Given the description of an element on the screen output the (x, y) to click on. 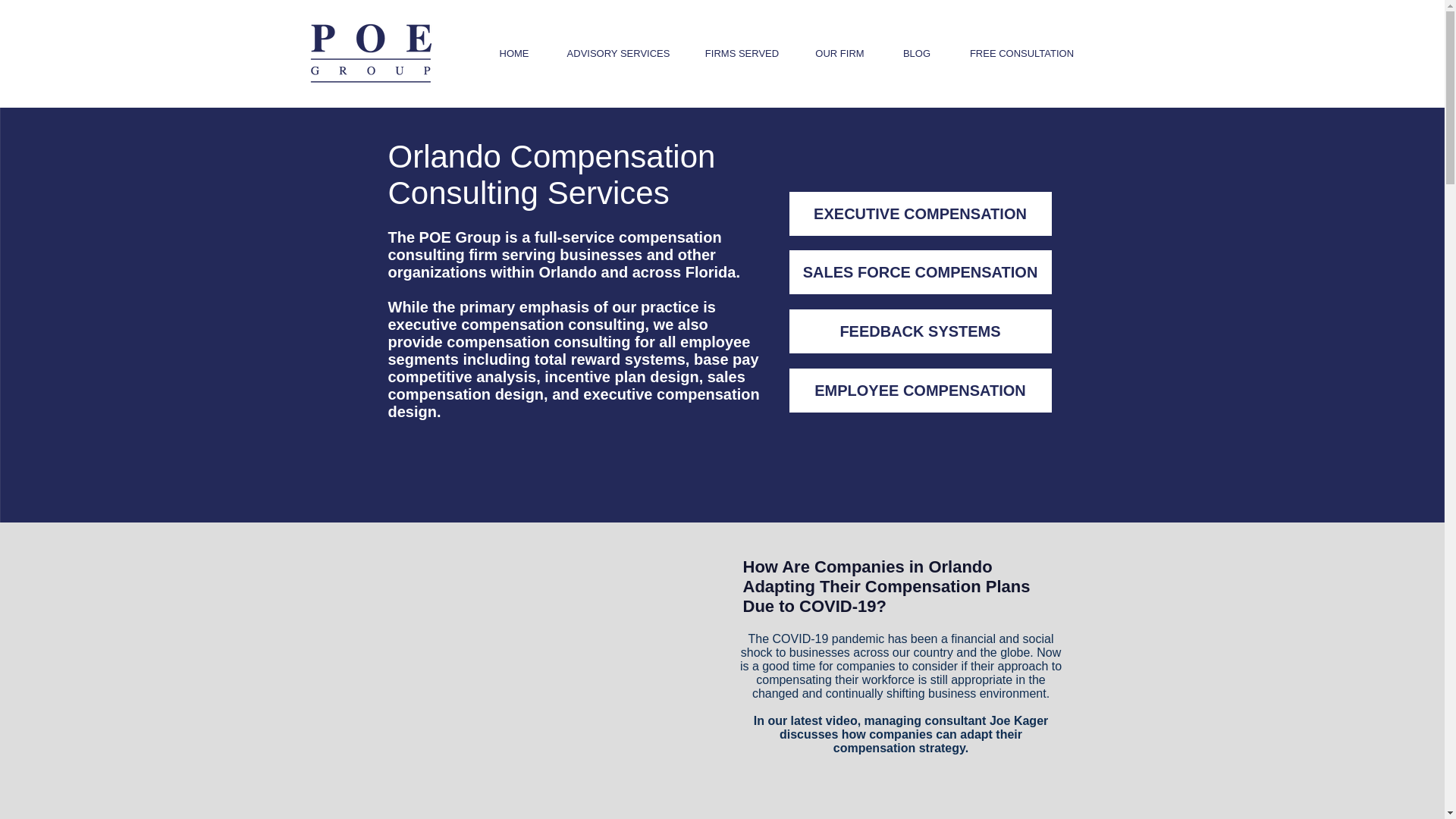
EXECUTIVE COMPENSATION (920, 213)
FIRMS SERVED (741, 53)
OUR FIRM (839, 53)
EMPLOYEE COMPENSATION (920, 390)
ADVISORY SERVICES (617, 53)
BLOG (916, 53)
SALES FORCE COMPENSATION (920, 272)
FREE CONSULTATION (1021, 53)
FEEDBACK SYSTEMS (920, 330)
approach to compensating their workforce (908, 673)
HOME (514, 53)
